Given the description of an element on the screen output the (x, y) to click on. 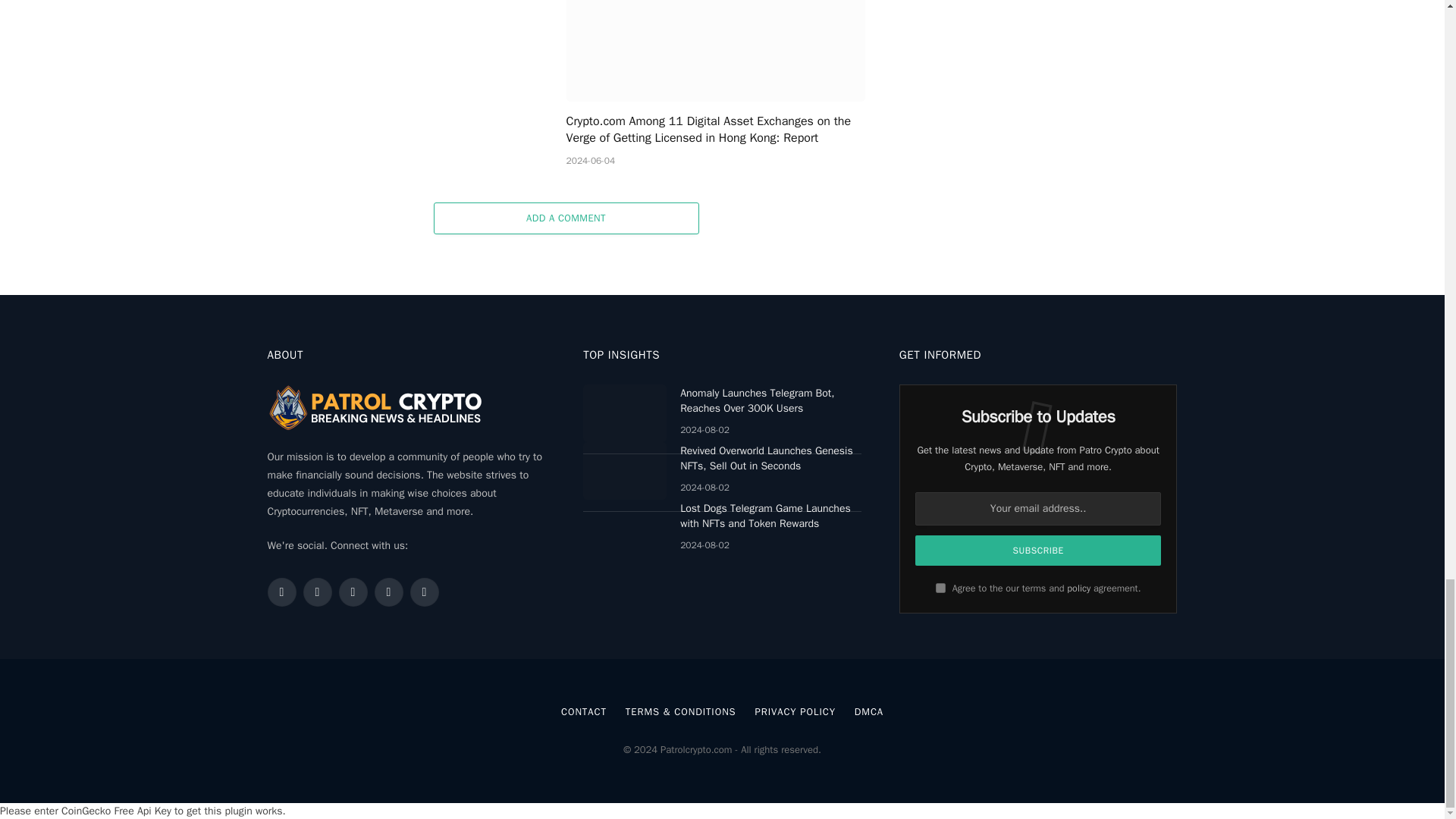
Subscribe (1038, 550)
on (940, 587)
